Given the description of an element on the screen output the (x, y) to click on. 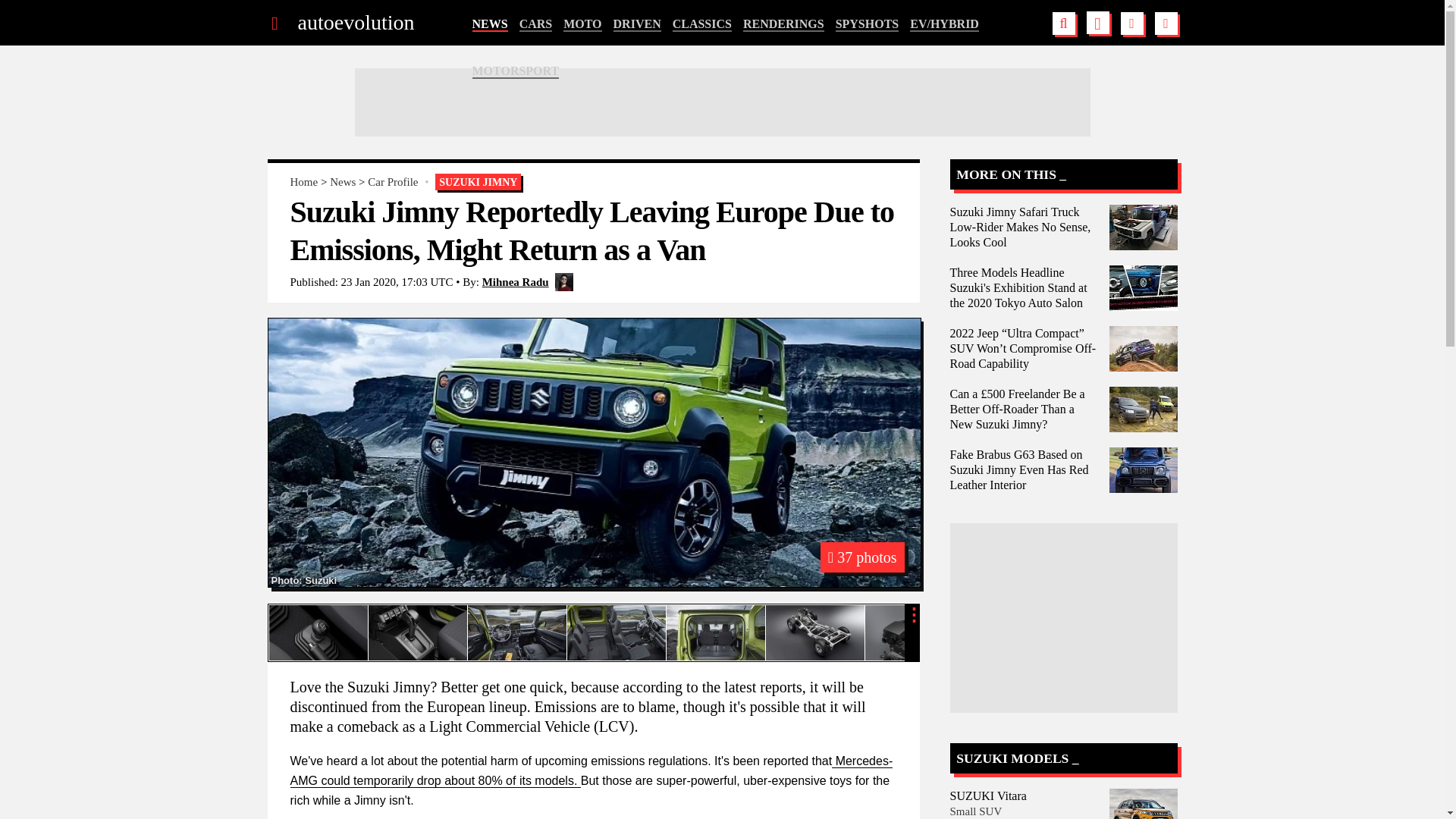
Car Profile (392, 182)
MOTORSPORT (515, 71)
autoevolution (355, 22)
MOTO (582, 24)
NEWS (488, 24)
CLASSICS (702, 24)
DRIVEN (636, 24)
News (342, 182)
autoevolution (355, 22)
Home (303, 182)
